Given the description of an element on the screen output the (x, y) to click on. 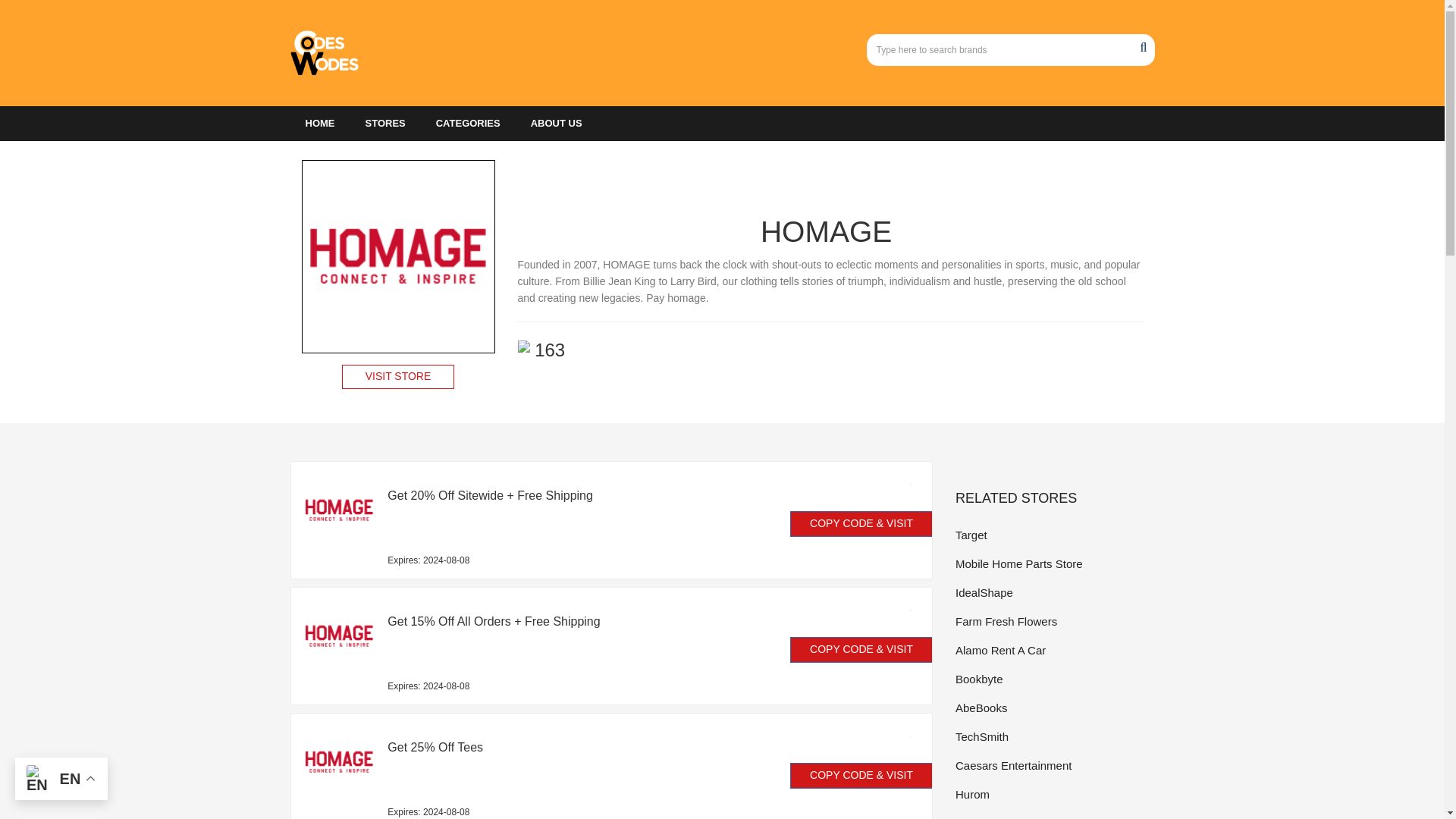
VISIT STORE (398, 376)
Target (1054, 534)
Mobile Home Parts Store (1054, 563)
CATEGORIES (467, 123)
AbeBooks (1054, 707)
IdealShape (1054, 592)
HOME (319, 123)
STORES (385, 123)
Farm Fresh Flowers (1054, 620)
Alamo Rent A Car (1054, 650)
Bookbyte (1054, 678)
ABOUT US (555, 123)
